Given the description of an element on the screen output the (x, y) to click on. 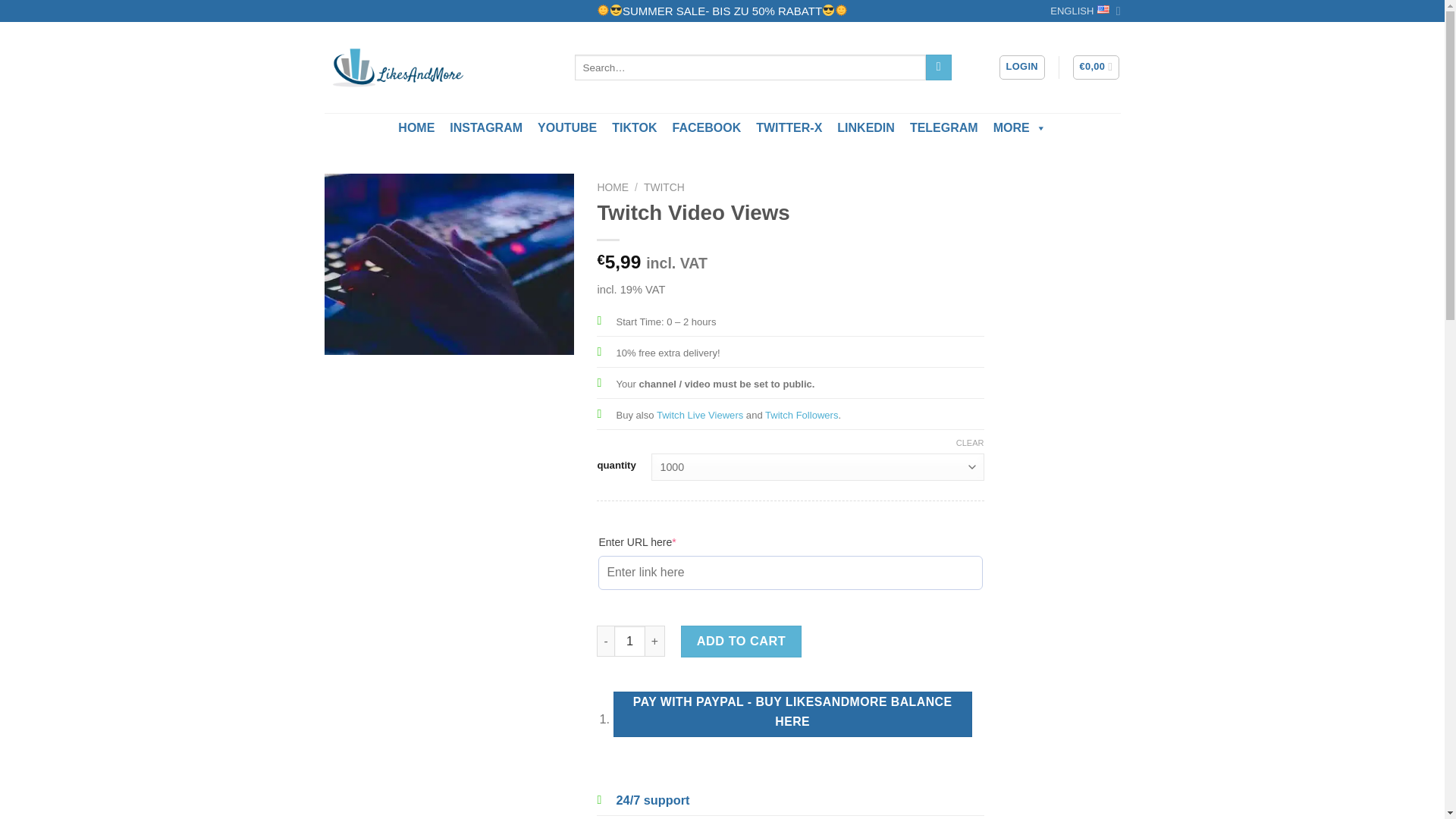
TWITTER-X (788, 128)
ENGLISH (1084, 11)
LOGIN (1021, 67)
FACEBOOK (707, 128)
INSTAGRAM (485, 128)
Cart (1096, 67)
Buy Twitch Video Views real cheap (449, 263)
- (605, 640)
LINKEDIN (865, 128)
TIKTOK (633, 128)
LikesAndMore - LikesAndMore.de (437, 67)
1 (629, 640)
HOME (416, 128)
TELEGRAM (943, 128)
Search (939, 67)
